Given the description of an element on the screen output the (x, y) to click on. 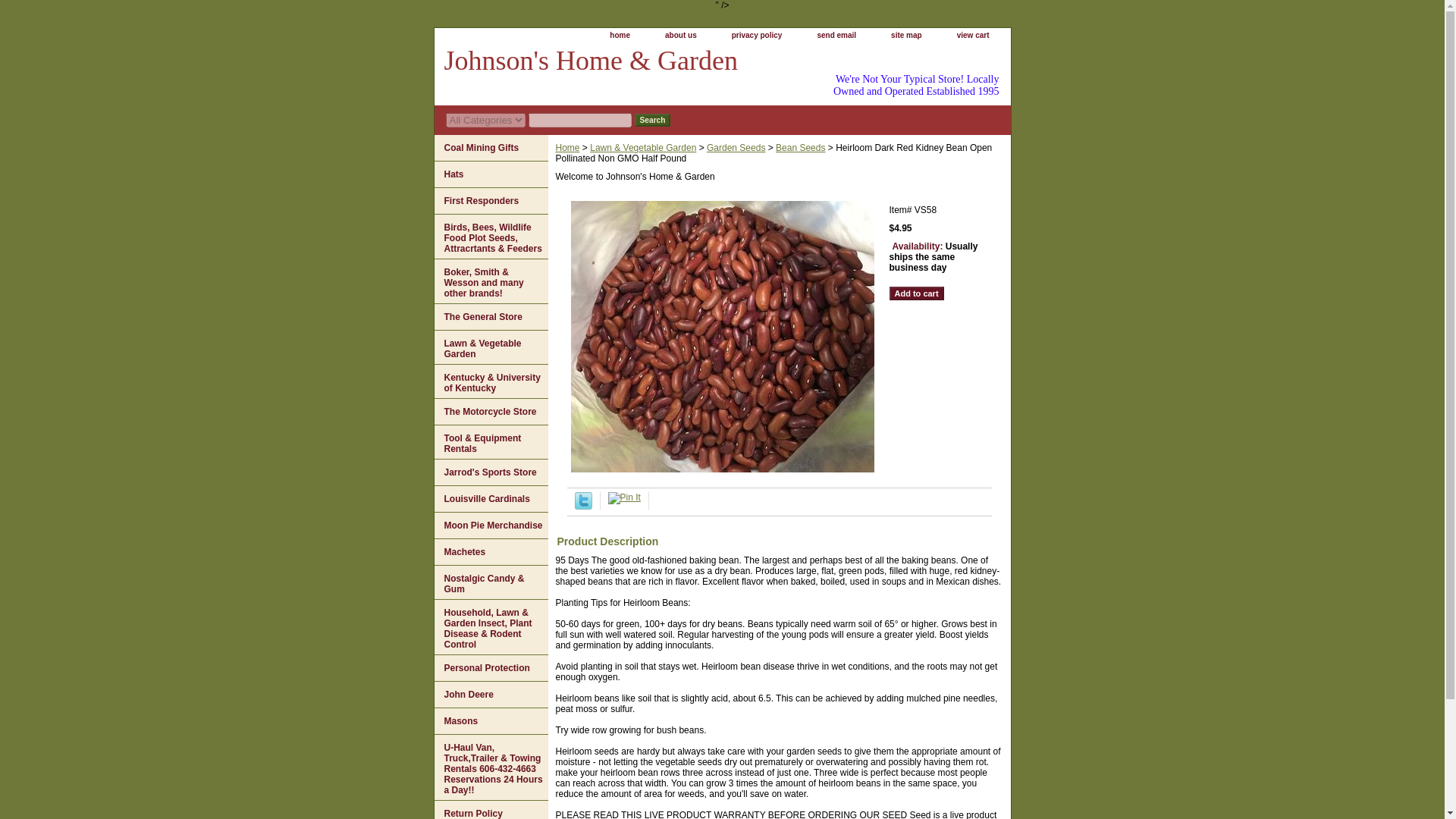
send email (836, 35)
Moon Pie Merchandise (490, 525)
The General Store (490, 316)
Search (651, 119)
Personal Protection (490, 668)
Coal Mining Gifts (490, 148)
Add to cart (915, 293)
First Responders (490, 201)
Machetes (490, 551)
site map (906, 35)
home (619, 35)
First Responders (490, 201)
about us (680, 35)
Jarrod's Sports Store (490, 472)
view cart (973, 35)
